Given the description of an element on the screen output the (x, y) to click on. 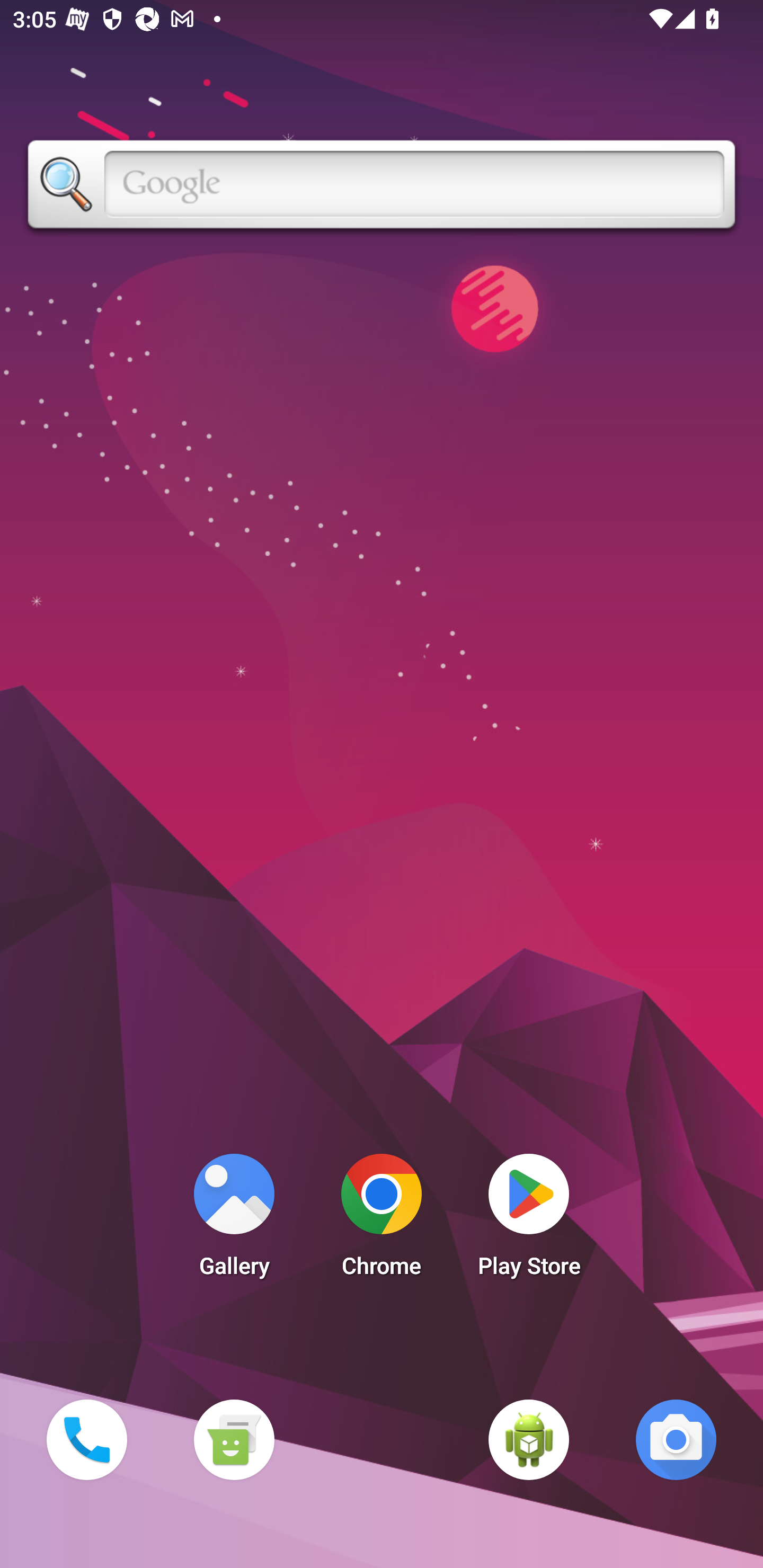
Gallery (233, 1220)
Chrome (381, 1220)
Play Store (528, 1220)
Phone (86, 1439)
Messaging (233, 1439)
WebView Browser Tester (528, 1439)
Camera (676, 1439)
